Given the description of an element on the screen output the (x, y) to click on. 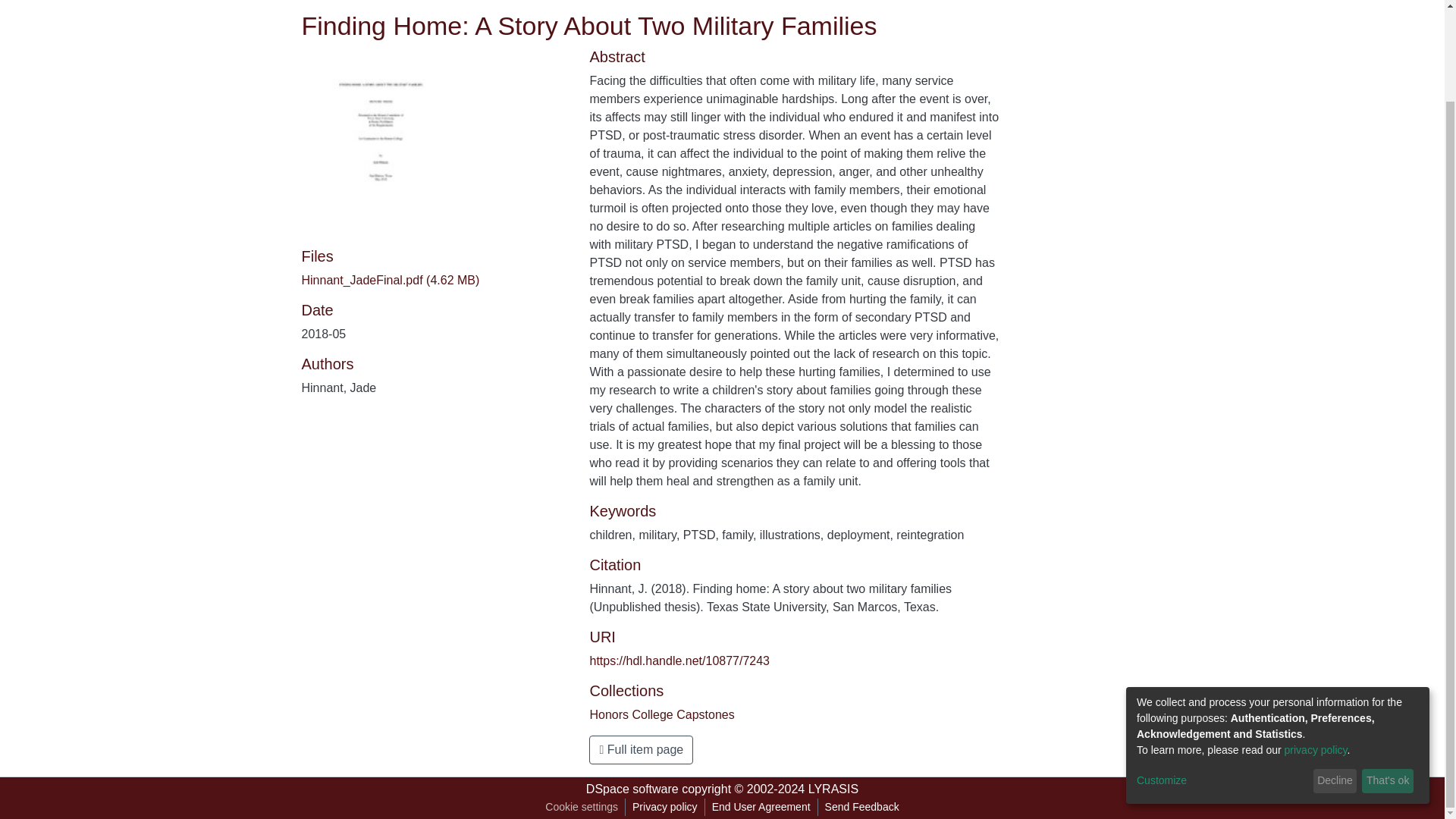
LYRASIS (833, 788)
Honors College Capstones (661, 714)
Full item page (641, 749)
Customize (1222, 675)
DSpace software (632, 788)
Cookie settings (581, 806)
Send Feedback (861, 806)
Decline (1334, 676)
That's ok (1387, 676)
End User Agreement (760, 806)
Privacy policy (665, 806)
privacy policy (1316, 645)
